Given the description of an element on the screen output the (x, y) to click on. 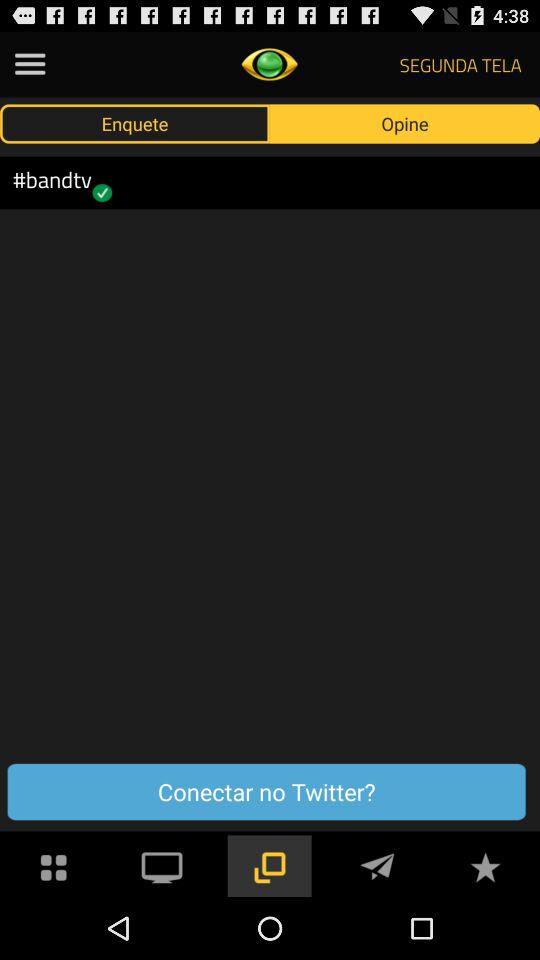
select button below the conectar no twitter? item (162, 864)
